Given the description of an element on the screen output the (x, y) to click on. 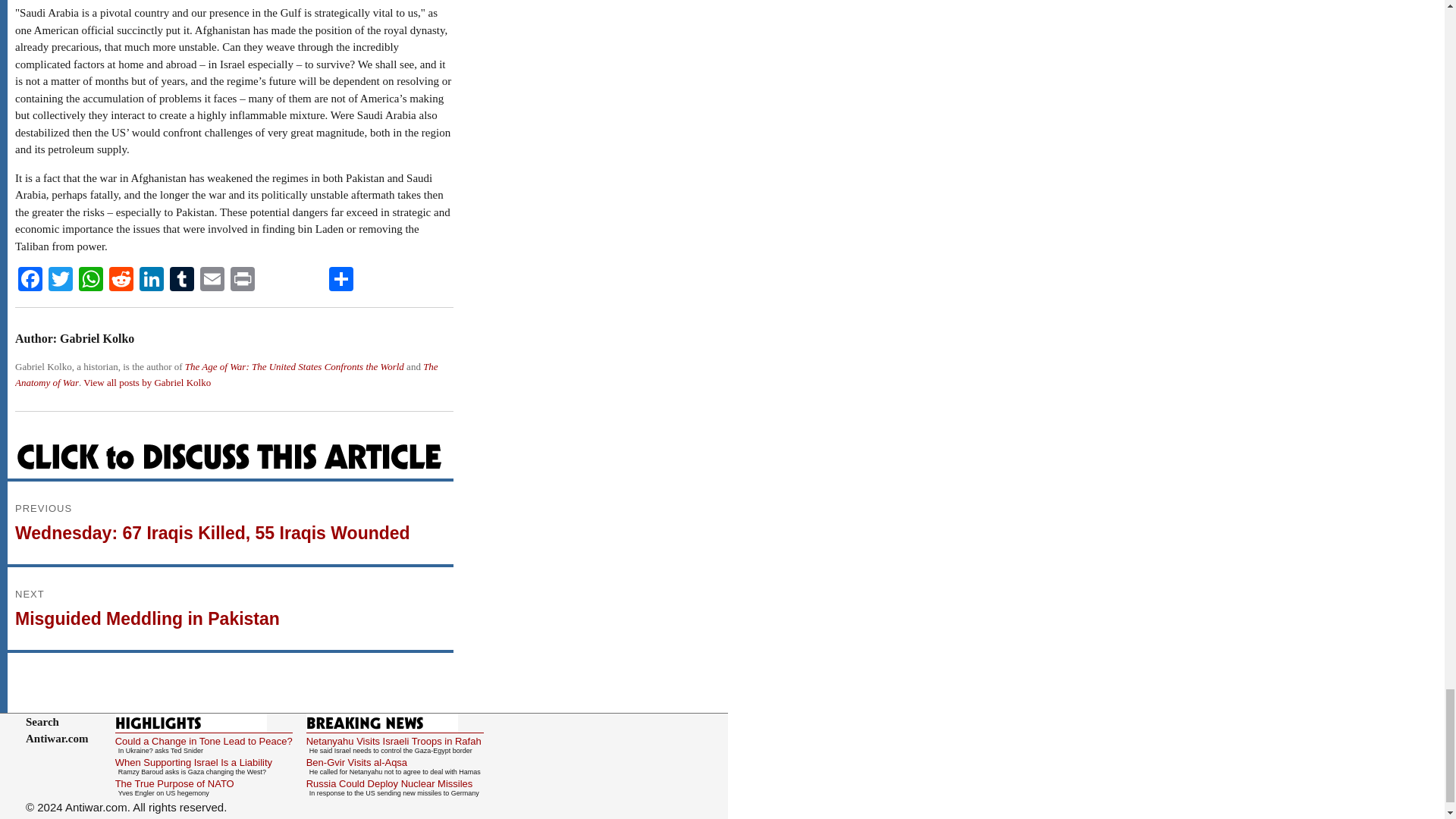
WhatsApp (90, 280)
Email (211, 280)
LinkedIn (151, 280)
The Anatomy of War (226, 374)
The Age of War: The United States Confronts the World (294, 366)
Facebook (29, 280)
Print (242, 280)
WhatsApp (90, 280)
Twitter (60, 280)
Email (211, 280)
LinkedIn (151, 280)
Twitter (60, 280)
Tumblr (181, 280)
Share (341, 280)
Facebook (29, 280)
